Given the description of an element on the screen output the (x, y) to click on. 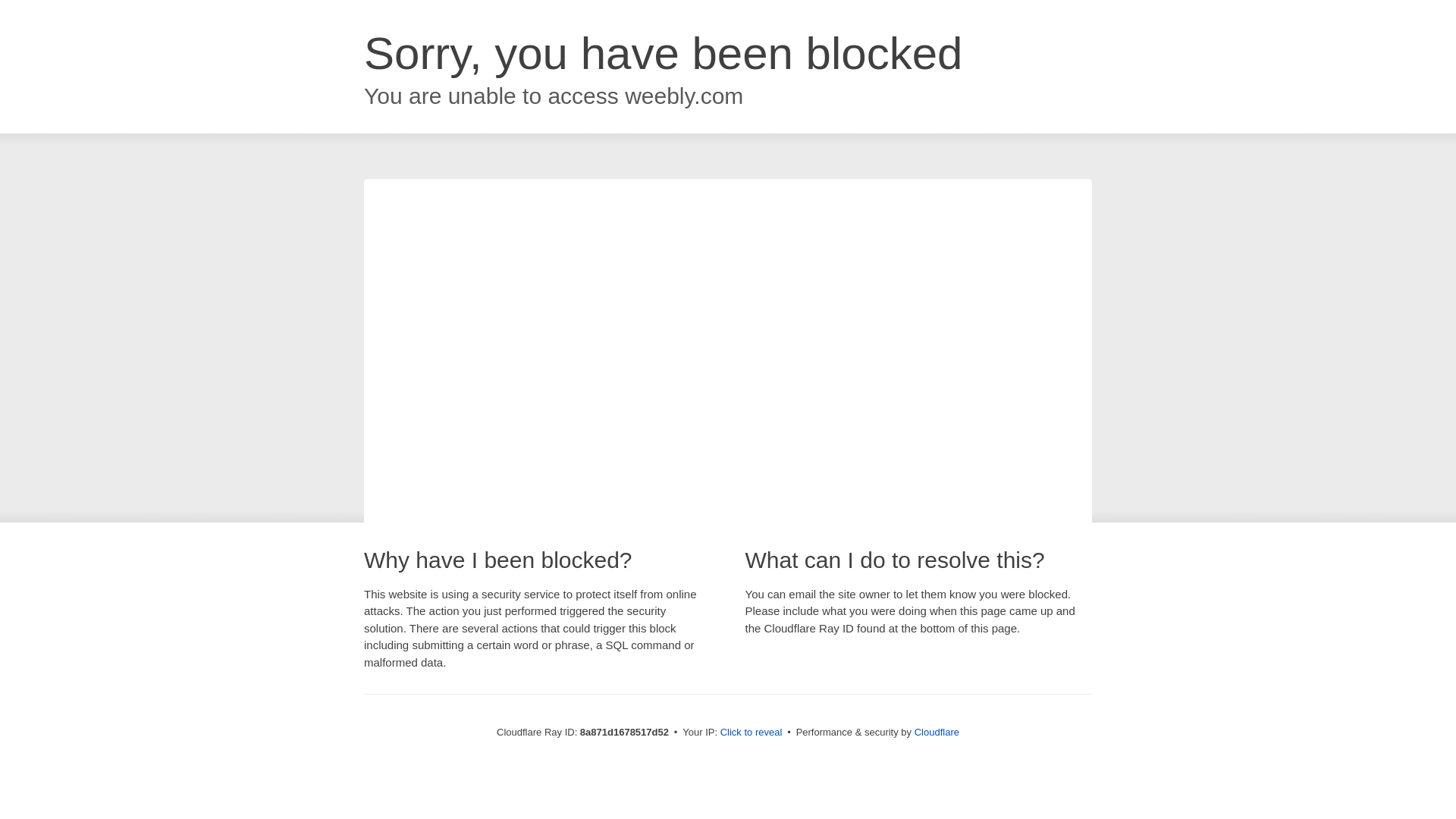
Cloudflare (936, 731)
Click to reveal (751, 732)
